Given the description of an element on the screen output the (x, y) to click on. 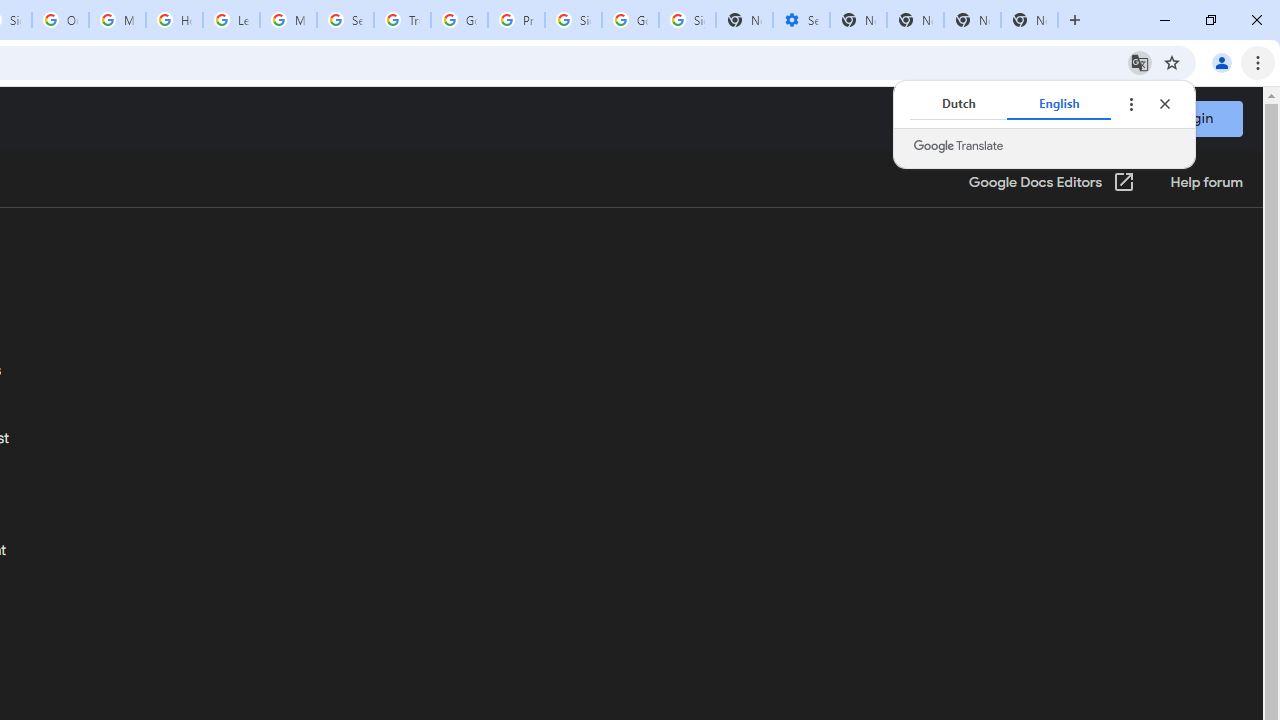
Google Cybersecurity Innovations - Google Safety Center (630, 20)
Google Docs Editors (Opens in new window) (1051, 183)
Help forum (1205, 183)
English (1059, 103)
Trusted Information and Content - Google Safety Center (402, 20)
New Tab (1029, 20)
Translate options (1130, 103)
